Given the description of an element on the screen output the (x, y) to click on. 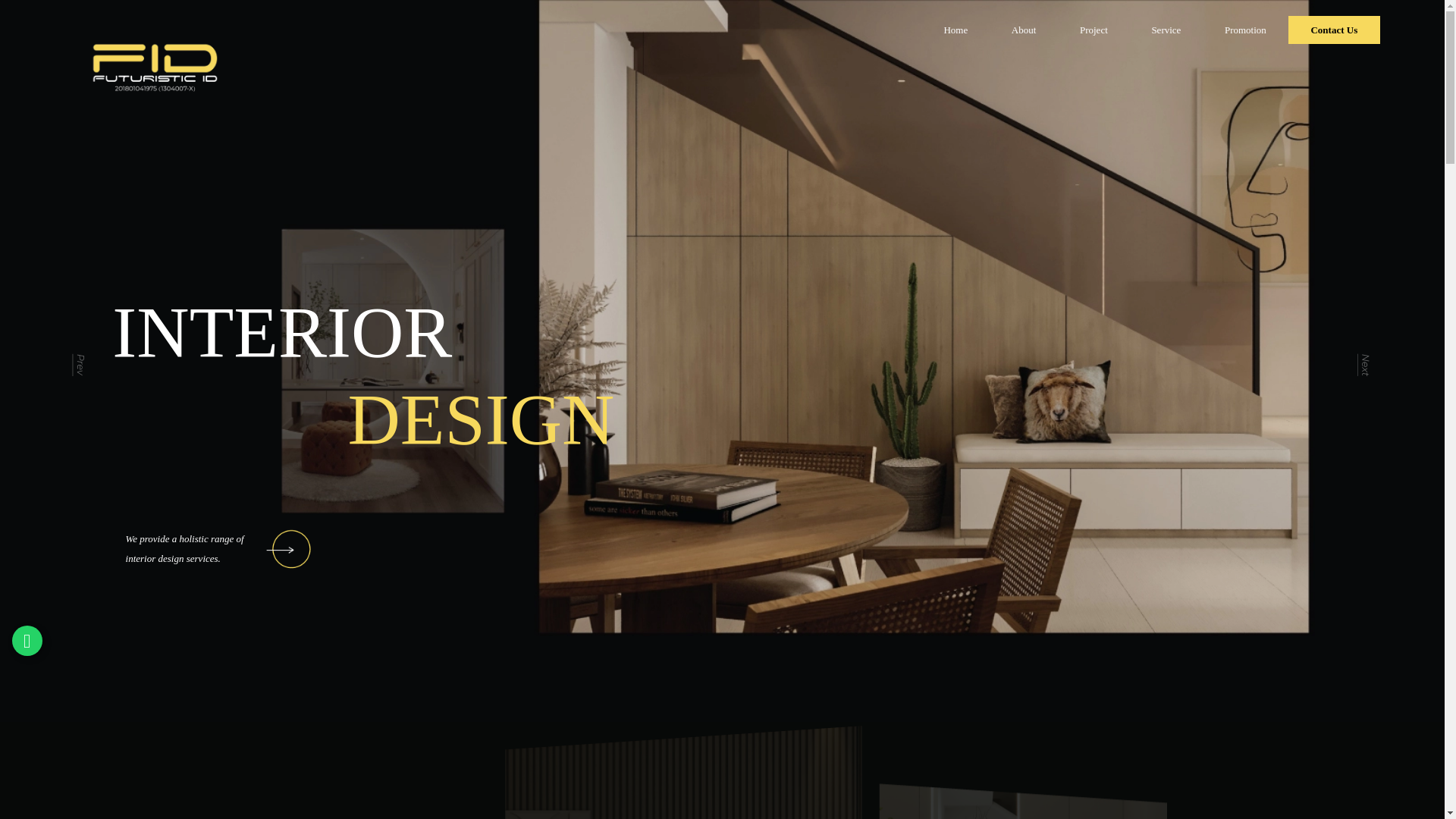
Next (1364, 360)
Contact us (1334, 29)
We provide a holistic range of interior design services. (218, 647)
Service (1166, 29)
Service (1166, 29)
Promotion (1245, 29)
Project (1093, 29)
Project (1093, 29)
About (1024, 29)
FUTURISTIC ID SDN. BHD. (154, 66)
Promotion (1245, 29)
About (1024, 29)
Home (955, 29)
Home (955, 29)
Contact Us (1334, 29)
